Given the description of an element on the screen output the (x, y) to click on. 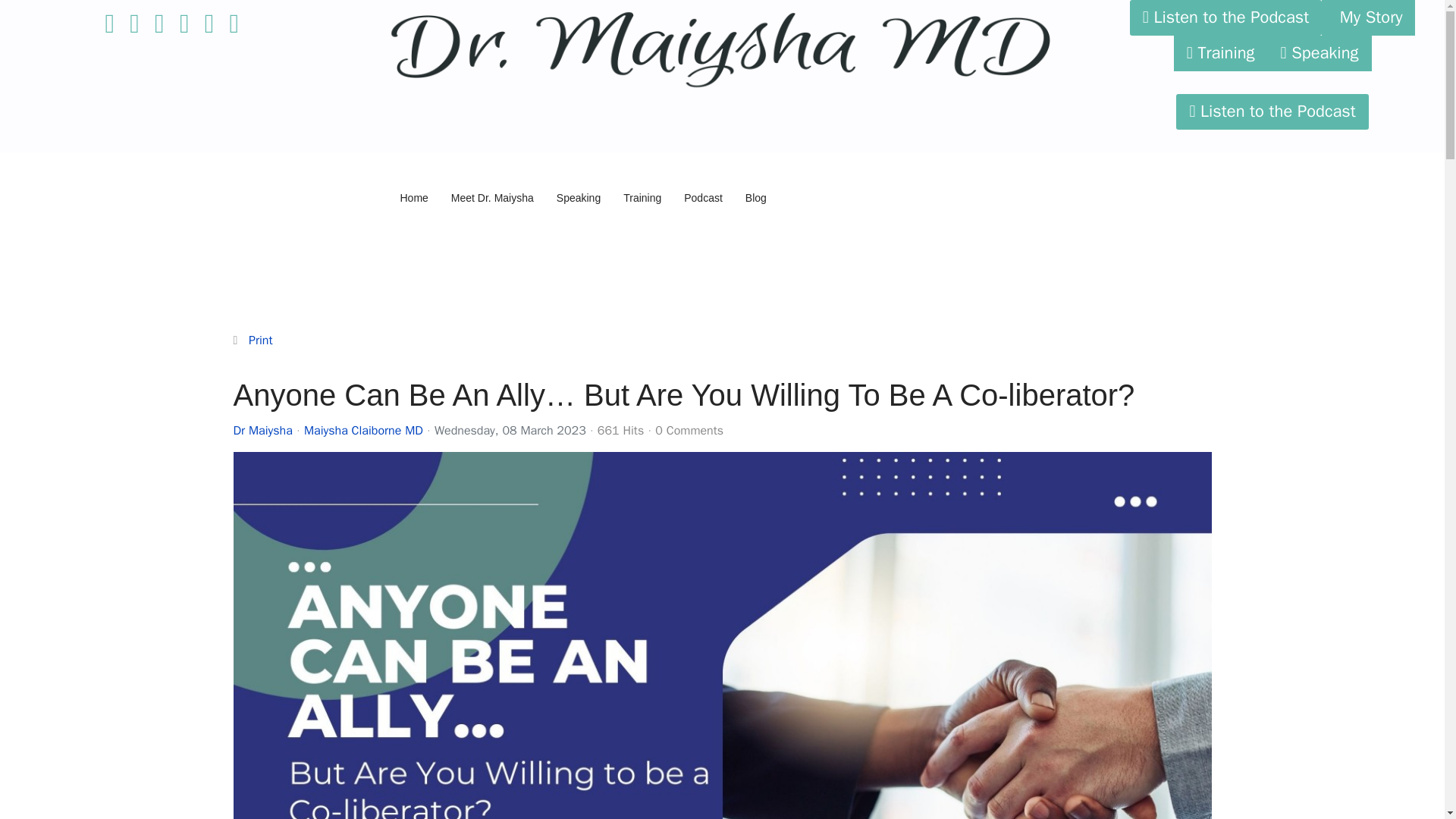
Dr Maiysha (262, 430)
Speaking (1319, 53)
0 Comments (689, 430)
Listen to the Podcast (1272, 111)
Print (260, 340)
Listen to the Podcast (1225, 18)
My Story (1368, 18)
Training (1220, 53)
Meet Dr. Maiysha (491, 197)
Print (260, 340)
Maiysha Claiborne MD (363, 430)
